Given the description of an element on the screen output the (x, y) to click on. 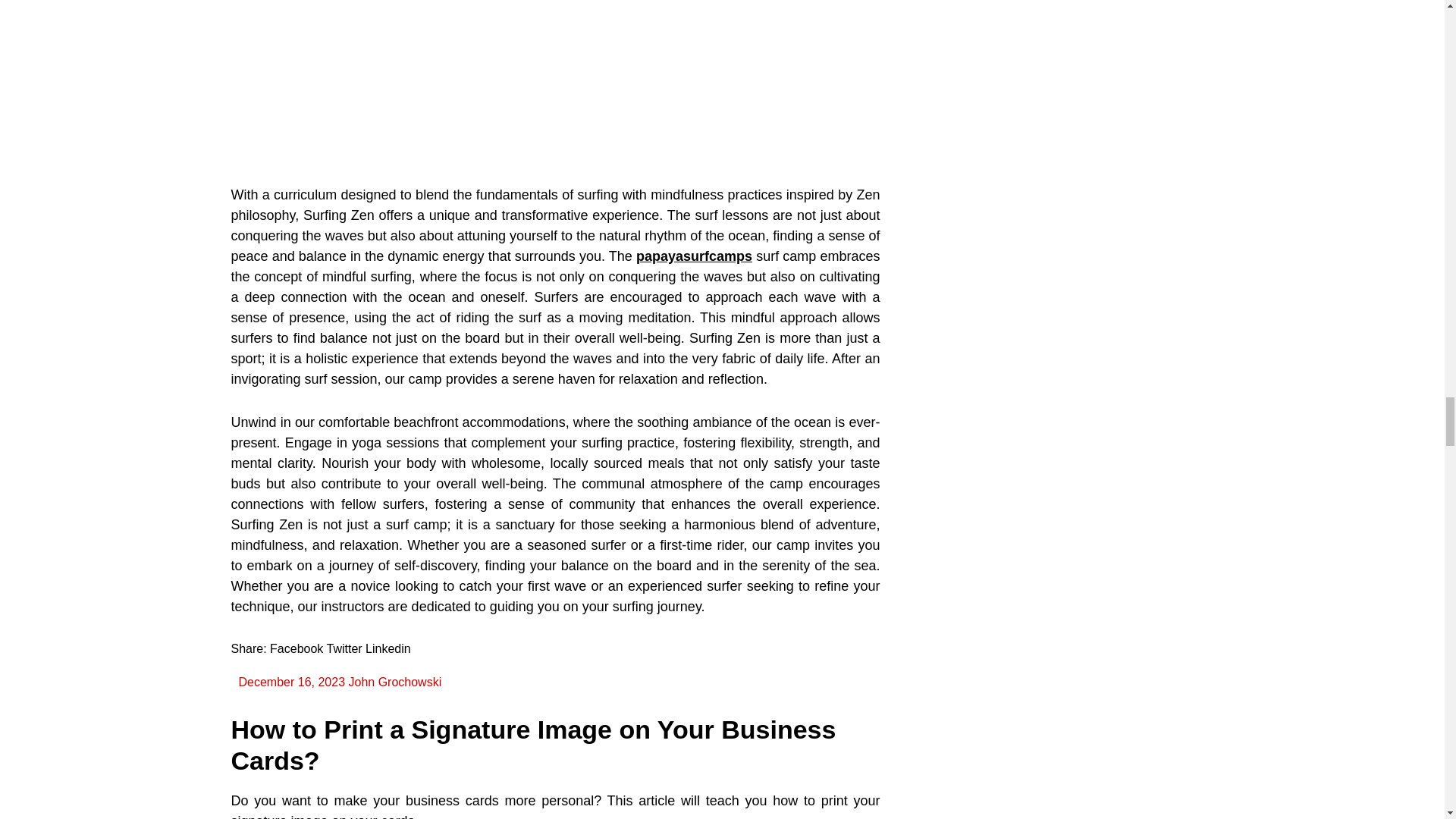
papayasurfcamps (694, 255)
Linkedin (387, 648)
Facebook (296, 648)
Twitter (344, 648)
